Given the description of an element on the screen output the (x, y) to click on. 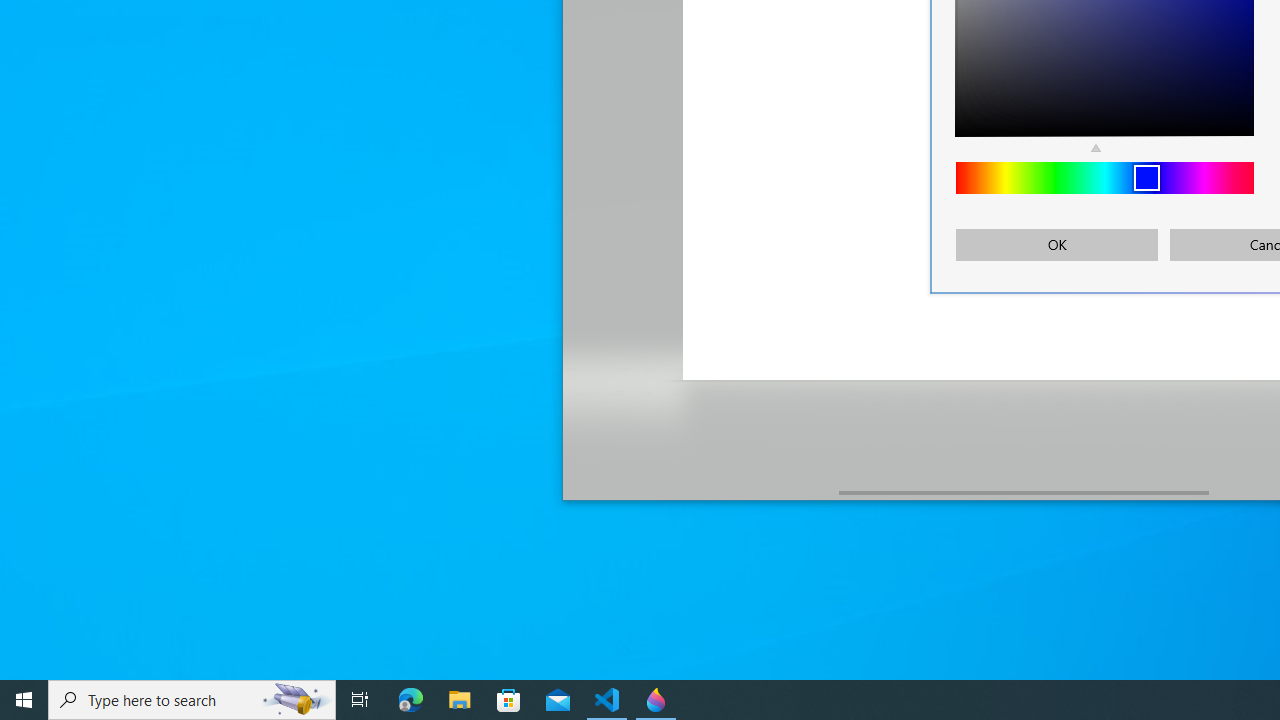
Visual Studio Code - 1 running window (607, 699)
Microsoft Edge (411, 699)
Start (24, 699)
Paint 3D - 1 running window (656, 699)
Microsoft Store (509, 699)
Task View (359, 699)
File Explorer (460, 699)
Type here to search (191, 699)
Search highlights icon opens search home window (295, 699)
